Given the description of an element on the screen output the (x, y) to click on. 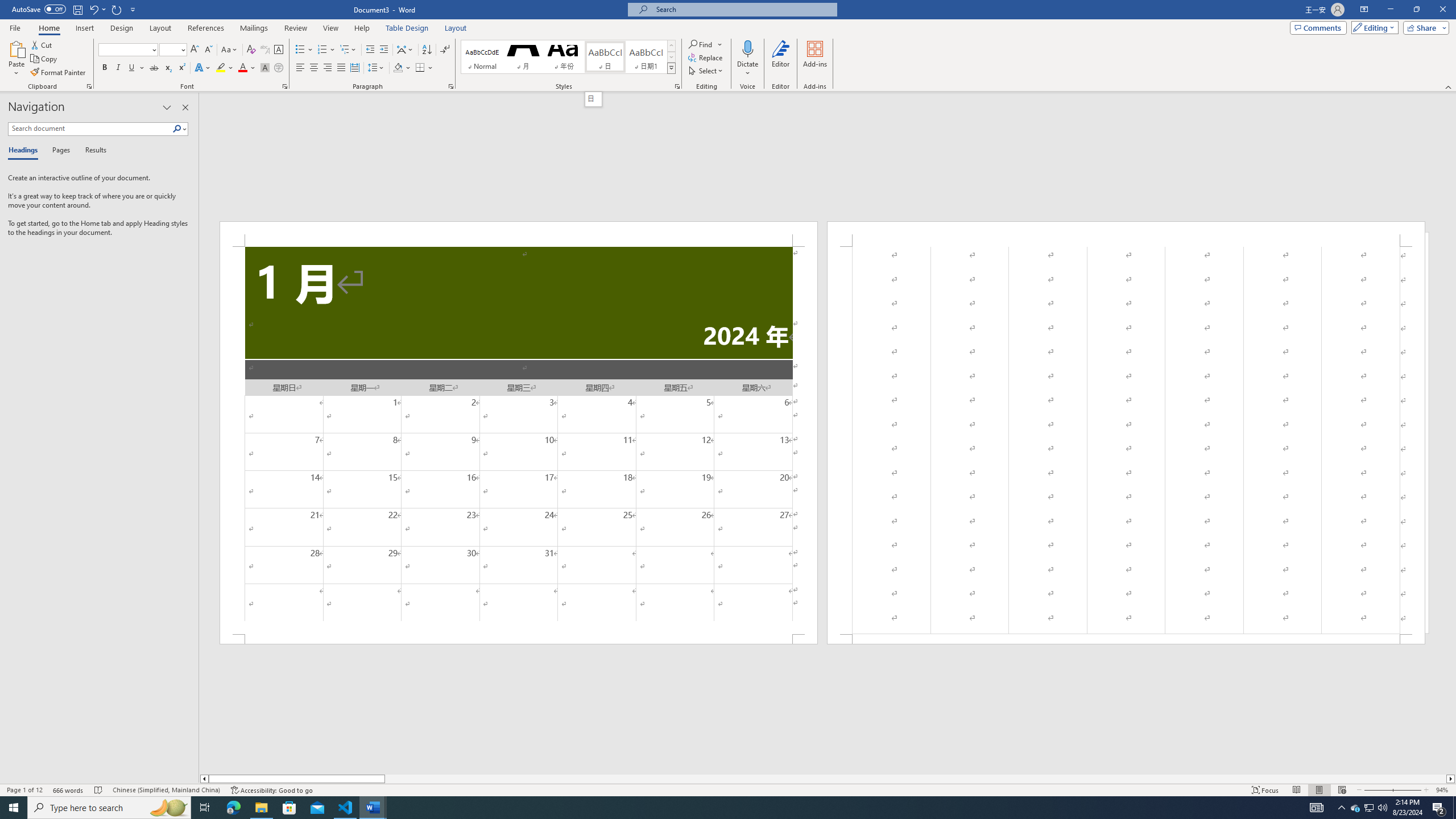
Font Size (172, 49)
Undo Text Fill Effect (96, 9)
